Given the description of an element on the screen output the (x, y) to click on. 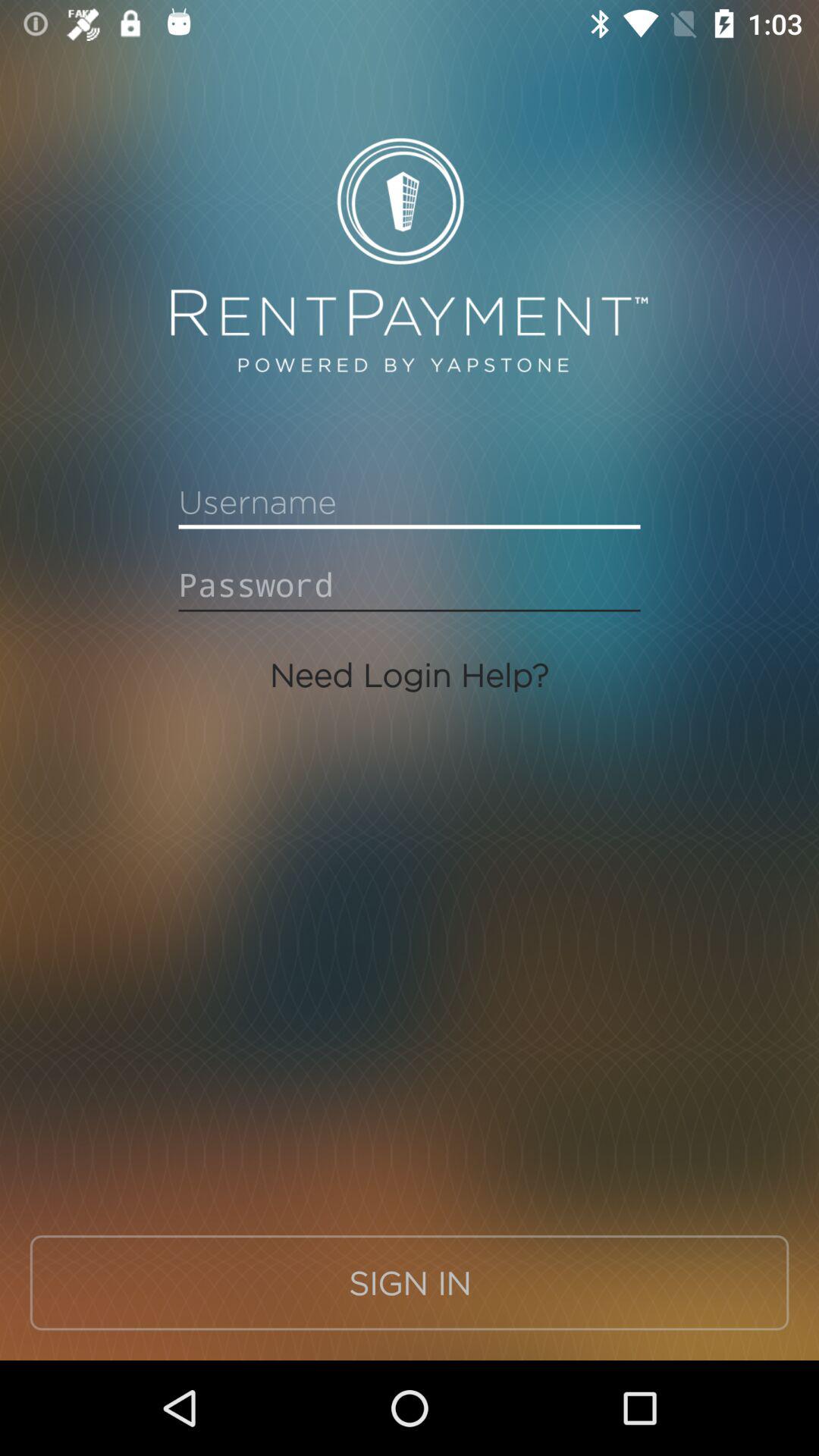
sign in (409, 501)
